Given the description of an element on the screen output the (x, y) to click on. 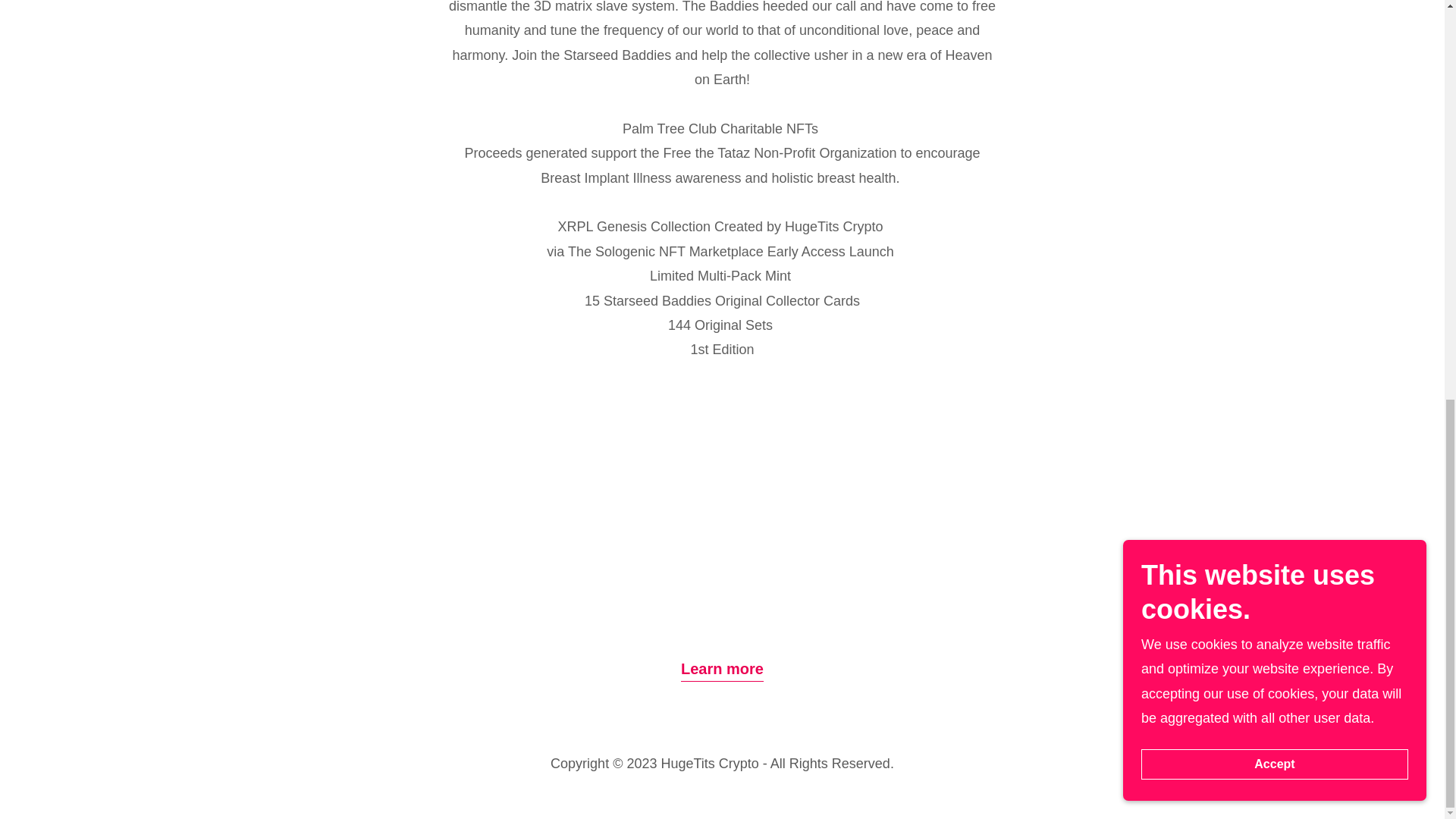
Learn more (721, 666)
